Given the description of an element on the screen output the (x, y) to click on. 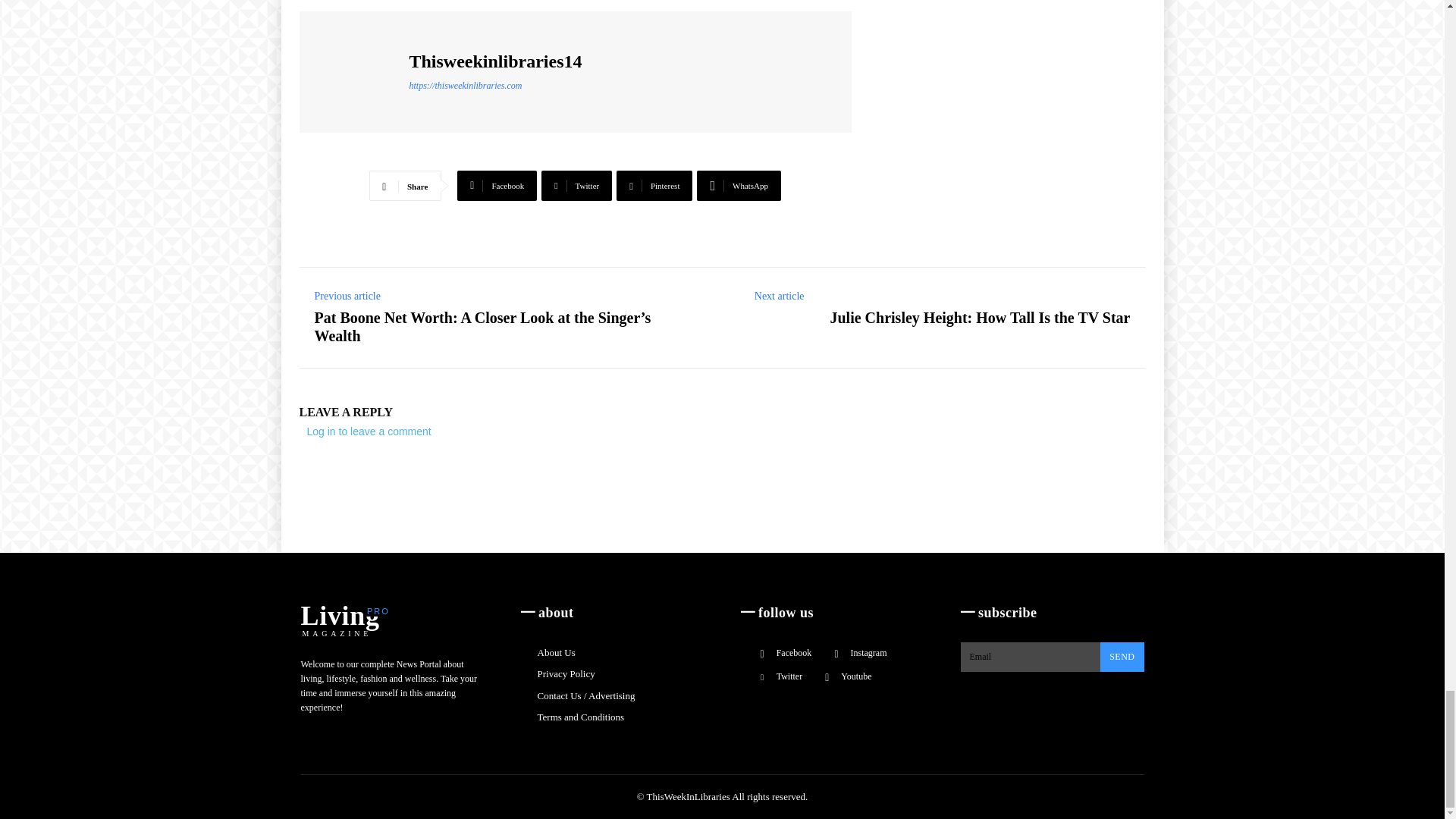
thisweekinlibraries14 (356, 71)
Facebook (497, 185)
Twitter (576, 185)
